Given the description of an element on the screen output the (x, y) to click on. 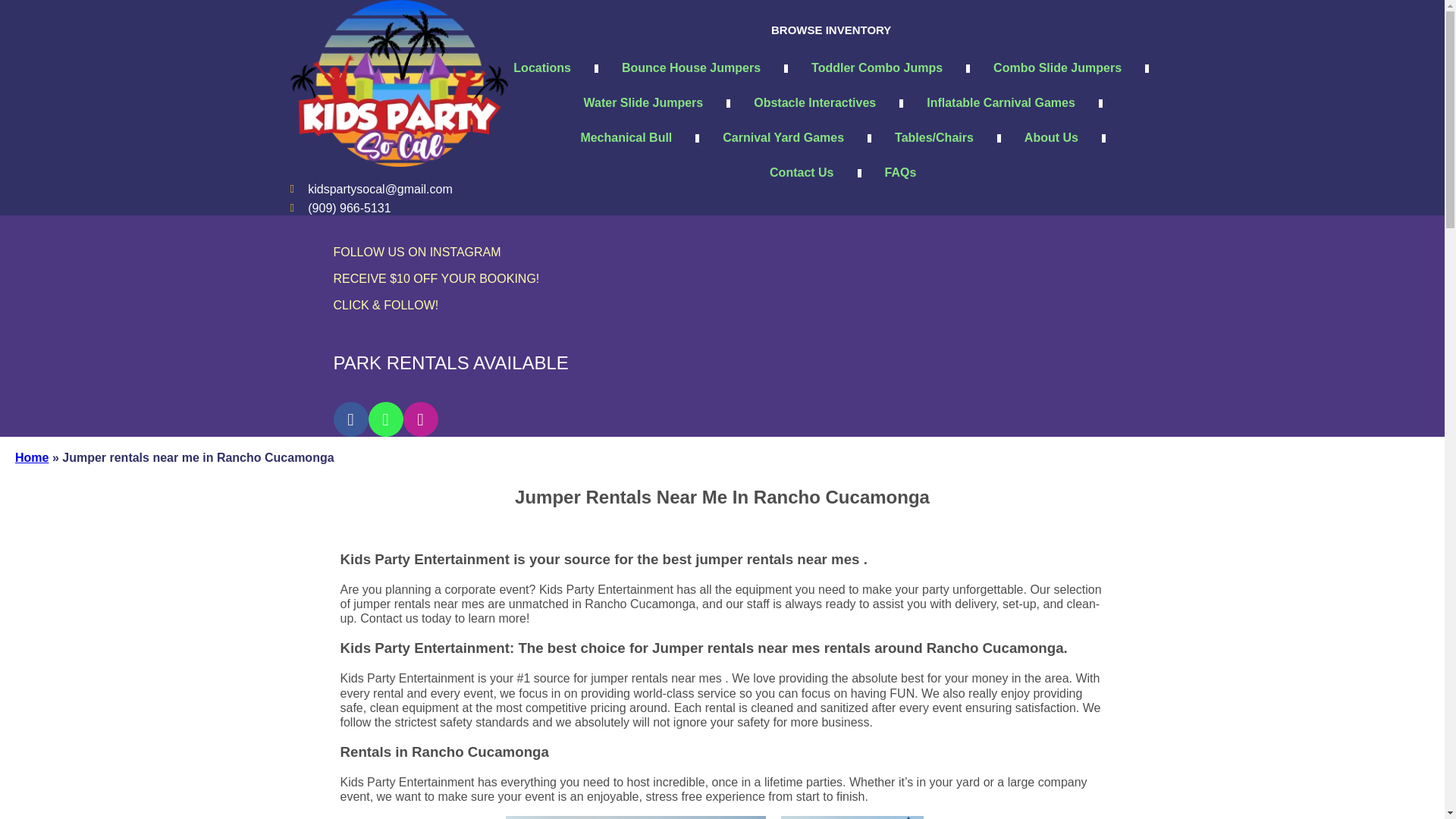
Mechanical Bull (625, 137)
Toddler Combo Jumps (876, 67)
Obstacle Interactives (815, 102)
Water Slide Jumpers (643, 102)
Contact Us (801, 172)
Bounce House Jumpers (690, 67)
Carnival Yard Games (783, 137)
Inflatable Carnival Games (1000, 102)
About Us (1051, 137)
FAQs (901, 172)
Locations (541, 67)
Combo Slide Jumpers (1056, 67)
